Given the description of an element on the screen output the (x, y) to click on. 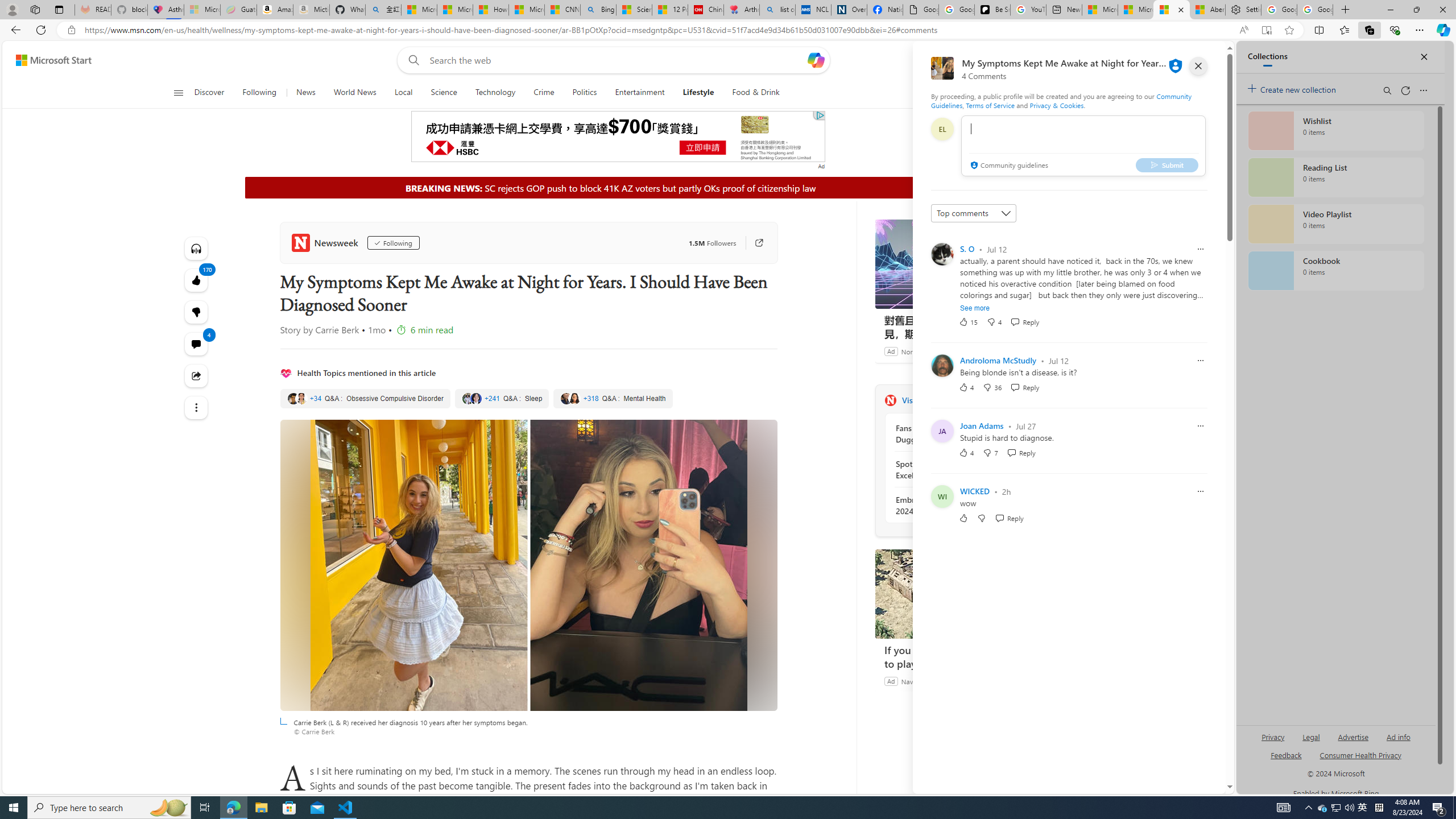
Listen to this article (196, 248)
